Given the description of an element on the screen output the (x, y) to click on. 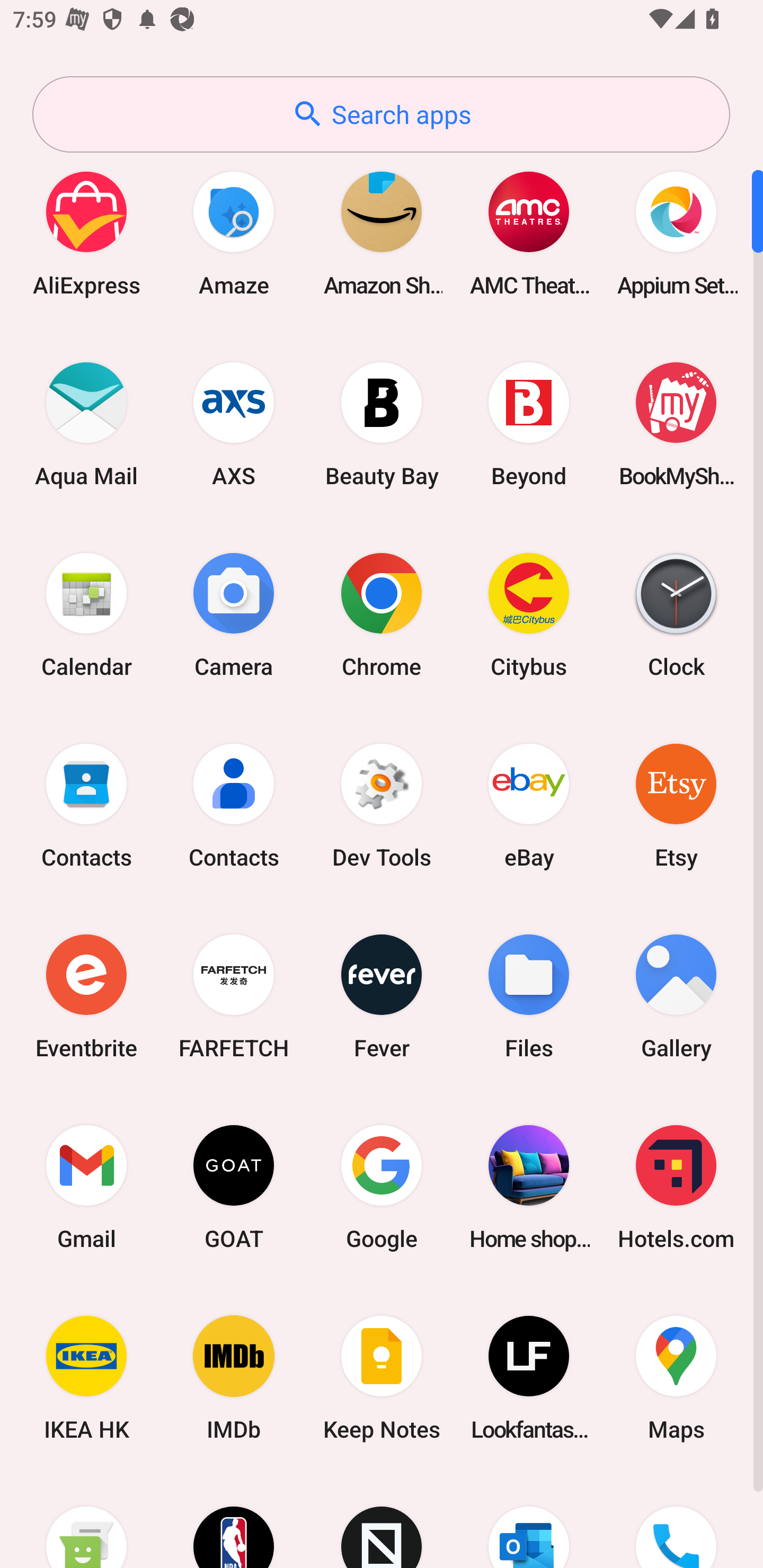
  Search apps (381, 114)
AliExpress (86, 233)
Amaze (233, 233)
Amazon Shopping (381, 233)
AMC Theatres (528, 233)
Appium Settings (676, 233)
Aqua Mail (86, 424)
AXS (233, 424)
Beauty Bay (381, 424)
Beyond (528, 424)
BookMyShow (676, 424)
Calendar (86, 614)
Camera (233, 614)
Chrome (381, 614)
Citybus (528, 614)
Clock (676, 614)
Contacts (86, 805)
Contacts (233, 805)
Dev Tools (381, 805)
eBay (528, 805)
Etsy (676, 805)
Eventbrite (86, 996)
FARFETCH (233, 996)
Fever (381, 996)
Files (528, 996)
Gallery (676, 996)
Gmail (86, 1186)
GOAT (233, 1186)
Google (381, 1186)
Home shopping (528, 1186)
Hotels.com (676, 1186)
IKEA HK (86, 1377)
IMDb (233, 1377)
Keep Notes (381, 1377)
Lookfantastic (528, 1377)
Maps (676, 1377)
